Given the description of an element on the screen output the (x, y) to click on. 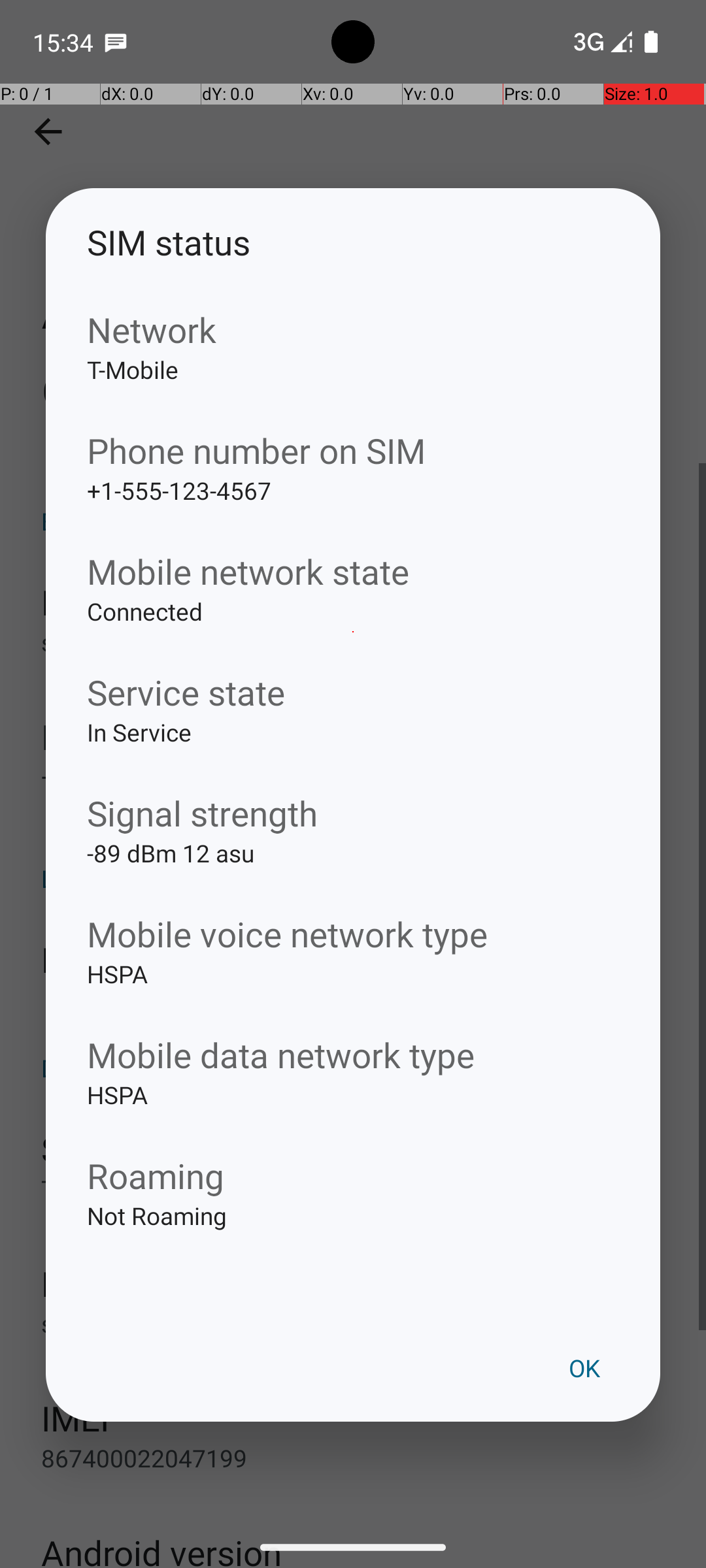
Network Element type: android.widget.TextView (352, 329)
Phone number on SIM Element type: android.widget.TextView (352, 450)
Mobile network state Element type: android.widget.TextView (352, 571)
Connected Element type: android.widget.TextView (352, 631)
Service state Element type: android.widget.TextView (352, 692)
In Service Element type: android.widget.TextView (352, 752)
Signal strength Element type: android.widget.TextView (352, 812)
-89 dBm 12 asu Element type: android.widget.TextView (352, 873)
Mobile voice network type Element type: android.widget.TextView (352, 933)
HSPA Element type: android.widget.TextView (352, 994)
Mobile data network type Element type: android.widget.TextView (352, 1054)
Roaming Element type: android.widget.TextView (352, 1175)
Not Roaming Element type: android.widget.TextView (352, 1235)
